Given the description of an element on the screen output the (x, y) to click on. 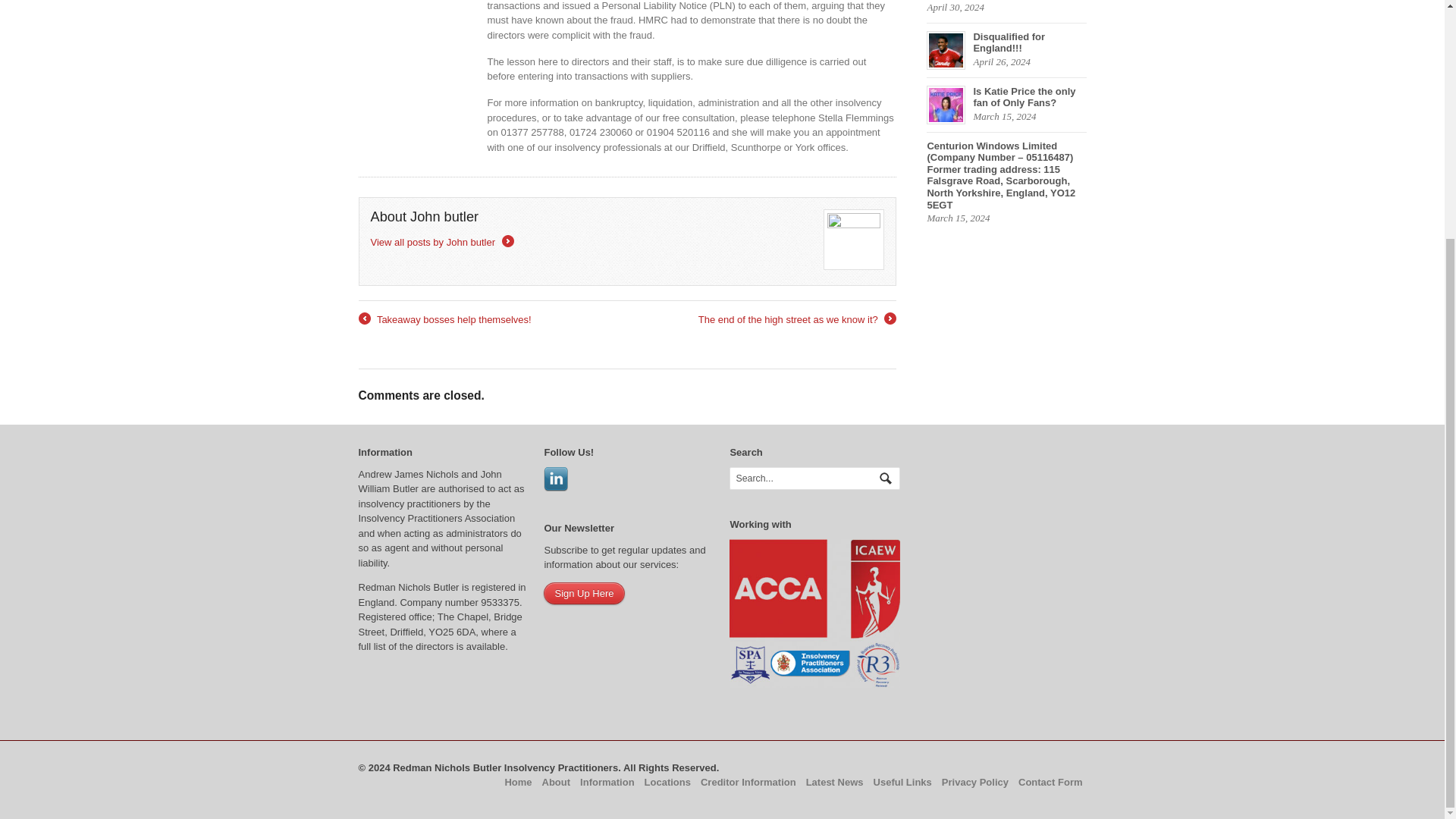
Search... (806, 477)
Is Katie Price the only fan of Only Fans? (1006, 96)
Disqualified for England!!! (1006, 42)
